Given the description of an element on the screen output the (x, y) to click on. 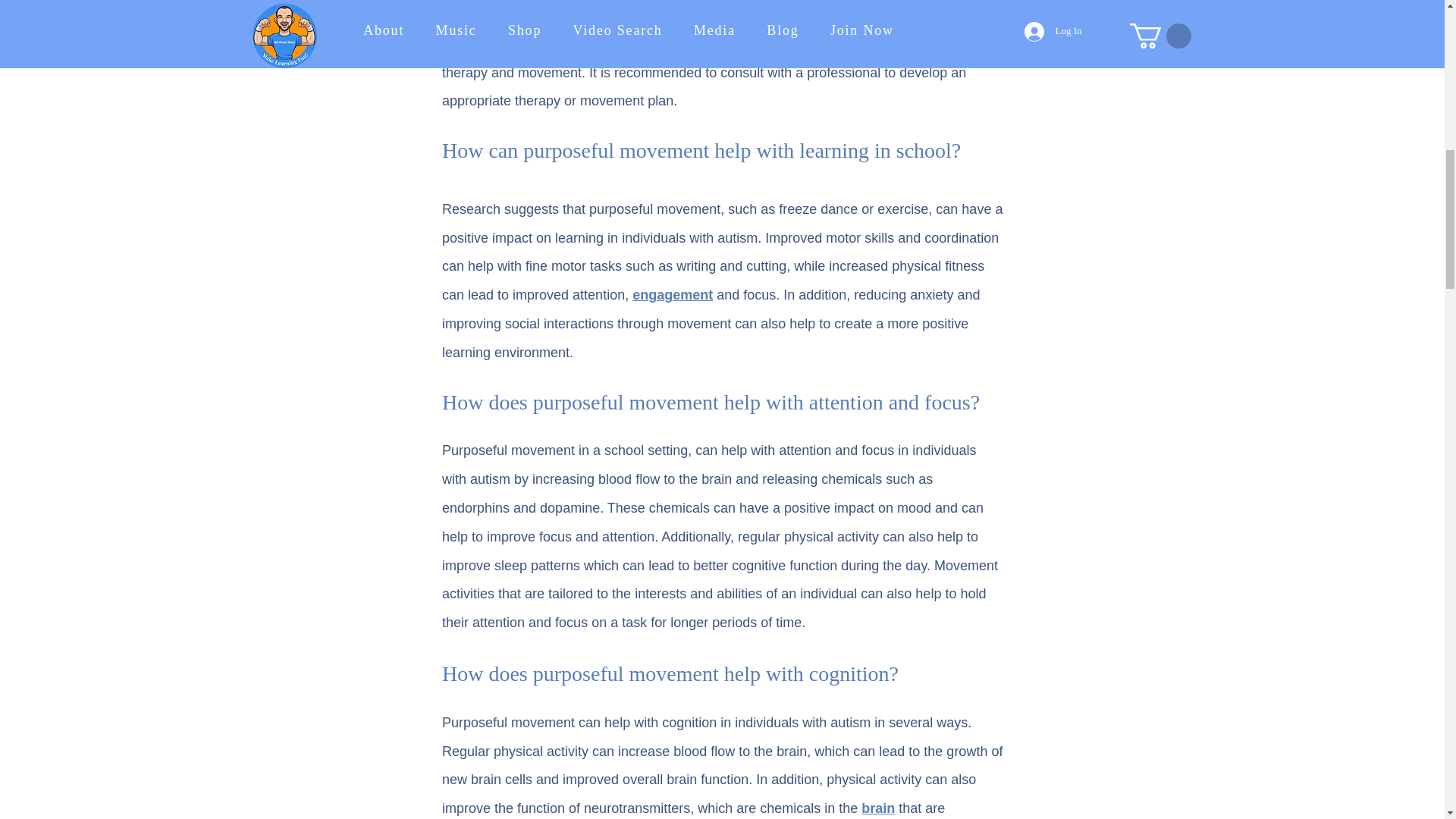
engagement (672, 294)
brain (878, 807)
